Given the description of an element on the screen output the (x, y) to click on. 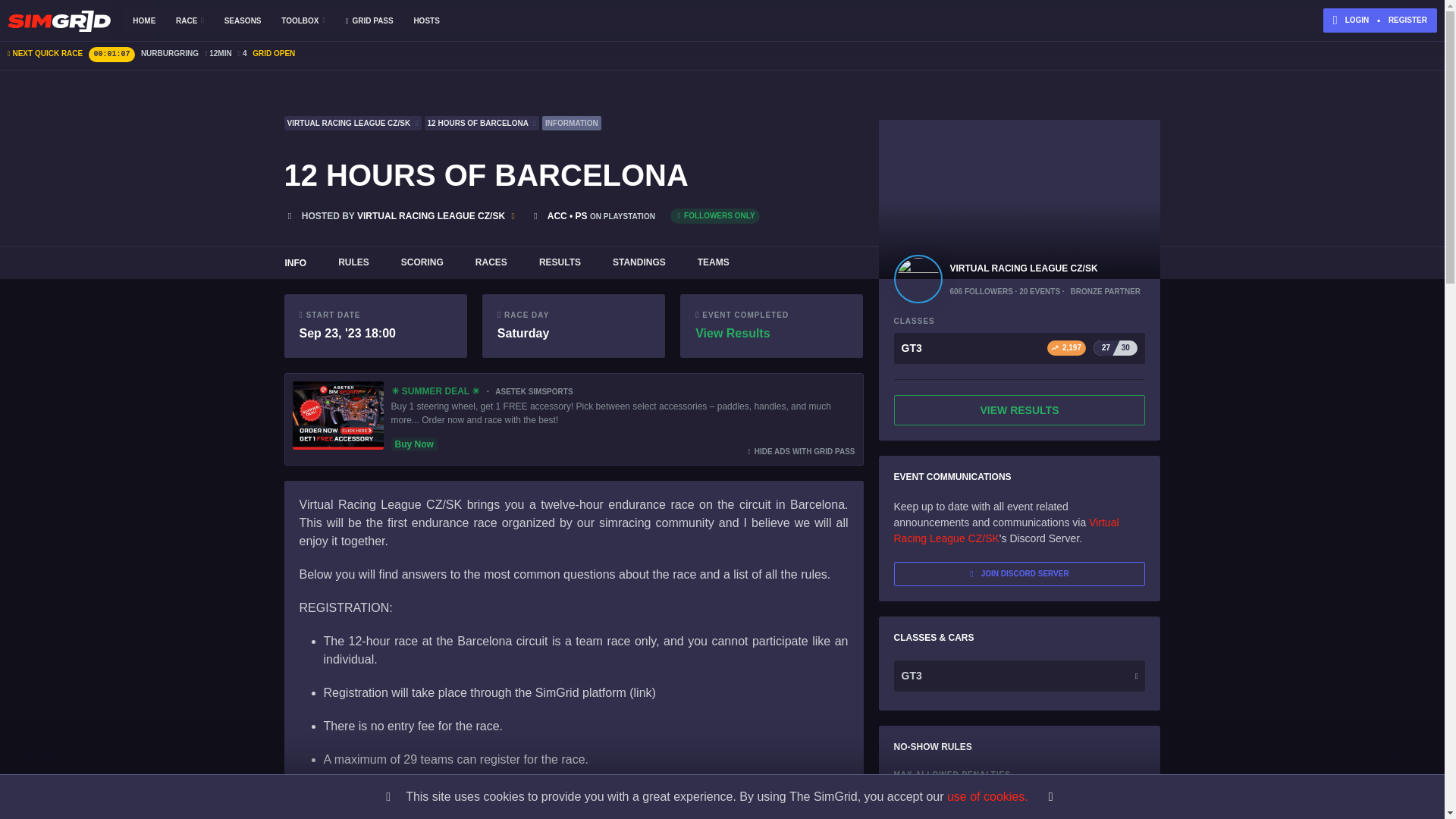
TOOLBOX (303, 20)
HOSTS (721, 263)
September 23, 2023 at 6:00pm  (426, 20)
GRID PASS (522, 332)
use of cookies. (368, 20)
RACE (987, 796)
HOME (189, 20)
SEASONS (143, 20)
September 23, 2023 at 6:00pm  (242, 20)
